Given the description of an element on the screen output the (x, y) to click on. 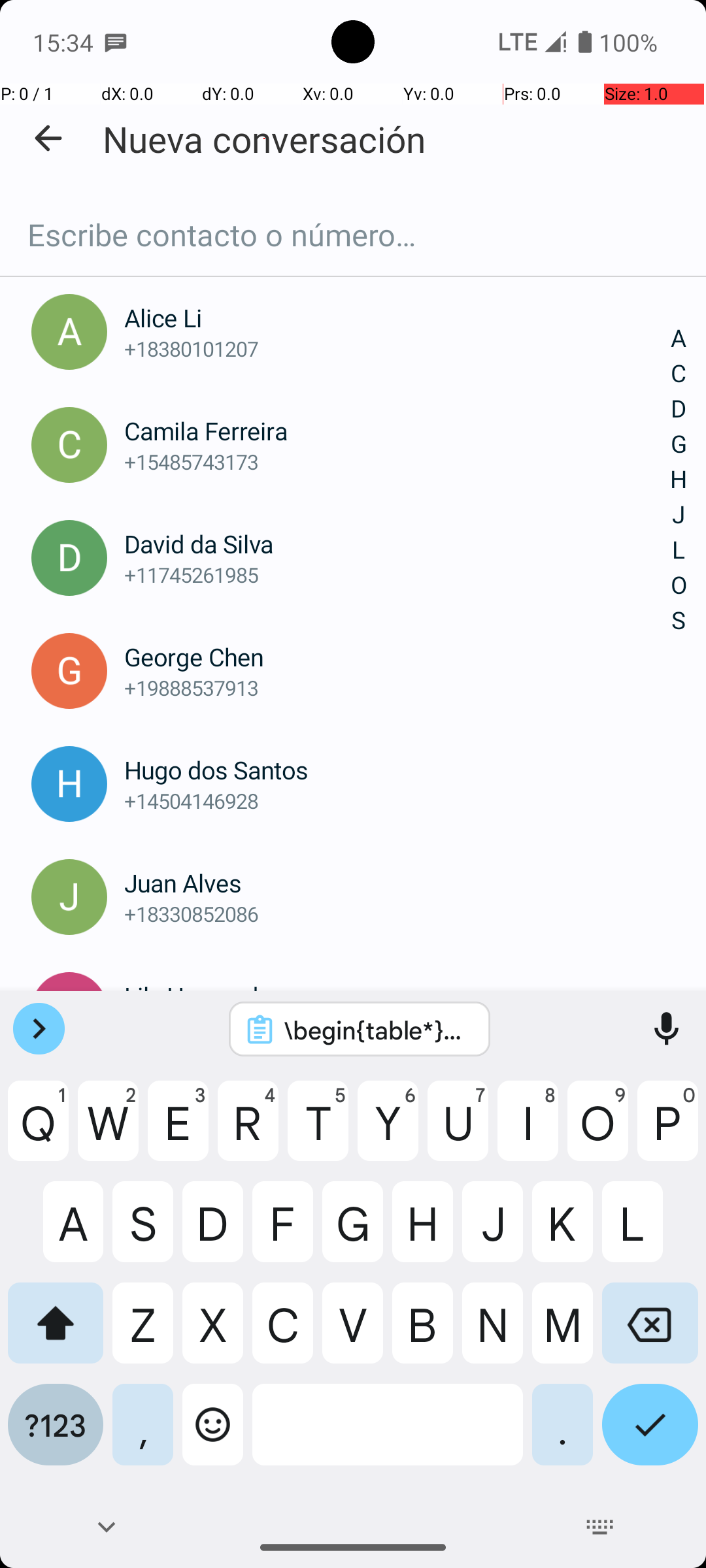
Atrás Element type: android.widget.ImageButton (48, 138)
Nueva conversación Element type: android.widget.TextView (263, 138)
Escribe contacto o número… Element type: android.widget.EditText (352, 234)
A
C
D
G
H
J
L
O
S Element type: android.widget.TextView (678, 479)
Alice Li Element type: android.widget.TextView (397, 317)
+18380101207 Element type: android.widget.TextView (397, 348)
Camila Ferreira Element type: android.widget.TextView (397, 430)
+15485743173 Element type: android.widget.TextView (397, 461)
David da Silva Element type: android.widget.TextView (397, 543)
+11745261985 Element type: android.widget.TextView (397, 574)
George Chen Element type: android.widget.TextView (397, 656)
+19888537913 Element type: android.widget.TextView (397, 687)
Hugo dos Santos Element type: android.widget.TextView (397, 769)
+14504146928 Element type: android.widget.TextView (397, 800)
Juan Alves Element type: android.widget.TextView (397, 882)
+18330852086 Element type: android.widget.TextView (397, 913)
Lily Hernandez Element type: android.widget.TextView (397, 995)
\begin{table*}[t!] \centering \renewcommand\arraystretch{1.1} \tabcolsep=0.05cm {\fontsize{10pt}{12pt}\selectfont \begin{tabular}{cccccccccc} \hline % \toprule          \multirow{2}{*}{LVLMs} & \multirow{2}{*}{\parbox{1.5cm}{\centering Model\\Size}}   & \multirow{2}{*}{\parbox{1.5cm}{\centering GUI\\Specific}} & \multicolumn{2}{c}{Mobile}        & \multicolumn{2}{c}{Desktop}       & \multicolumn{2}{c}{Web}           & \multirow{2}{*}{Average} \\ \cline{4-9}          &    &                               & Text            & Icon/Widget     & Text            & Icon/Widget     & Text            & Icon/Widget     &                          \\  % \midrule \hline MiniGPT-v2     & 7B   & \textcolor{darkred}{\ding{55}}                              &  8.4\%               & 6.6\%                & 6.2\%                & 2.9\%                & 6.5\%                & 3.4\%                & 5.7\%                         \\ Qwen-VL  & 9.6B   & \textcolor{darkred}{\ding{55}}                             & 9.5\%           & 4.8\%           & 5.7\%           & 5.0\%           & 3.5\%           & 2.4\%           & 5.2\%                    \\  GPT-4V   & -    & \textcolor{darkred}{\ding{55}}     & 22.6\%    & 24.5\%    & 20.2\%    & 11.8\%    &9.2\%  & 8.8\%     & 16.2\% \\ \hline Fuyu     & 8B   & \textcolor{darkgreen}{\ding{51}}                               & 41.0\%          & 1.3\%           & 33.0\%          & 3.6\%           & 33.9\%          & 4.4\%           & 19.5\%                   \\ CogAgent & 18B   & \textcolor{darkgreen}{\ding{51}}                               & 67.0\%          & 24.0\%          & \textbf{74.2\%} & 20.0\%          & \textbf{70.4\%} & 28.6\% & 47.4\%                   \\ \seek & 9.6B   & \textcolor{darkgreen}{\ding{51}}                              & \textbf{78.0\%} & \textbf{52.0\%} & 72.2\%          & \textbf{30.0\%} & 55.7\%          & \textbf{32.5\%} & \textbf{53.4\%}          \\  \hline % \bottomrule \end{tabular} } \caption{Results of different LVLMs on \seesp. The best results in each column are highlighted in \textbf{bold}. Benefiting from efficient GUI grounding pre-training, \seek significantly enhanced LVLMs' ability to locate GUI elements following instructions, and surpassed the strong baseline CogAgent with a smaller model size.} \label{tab:screenspot} \vspace{-1.0em} \end{table*} Element type: android.widget.TextView (376, 1029)
